Given the description of an element on the screen output the (x, y) to click on. 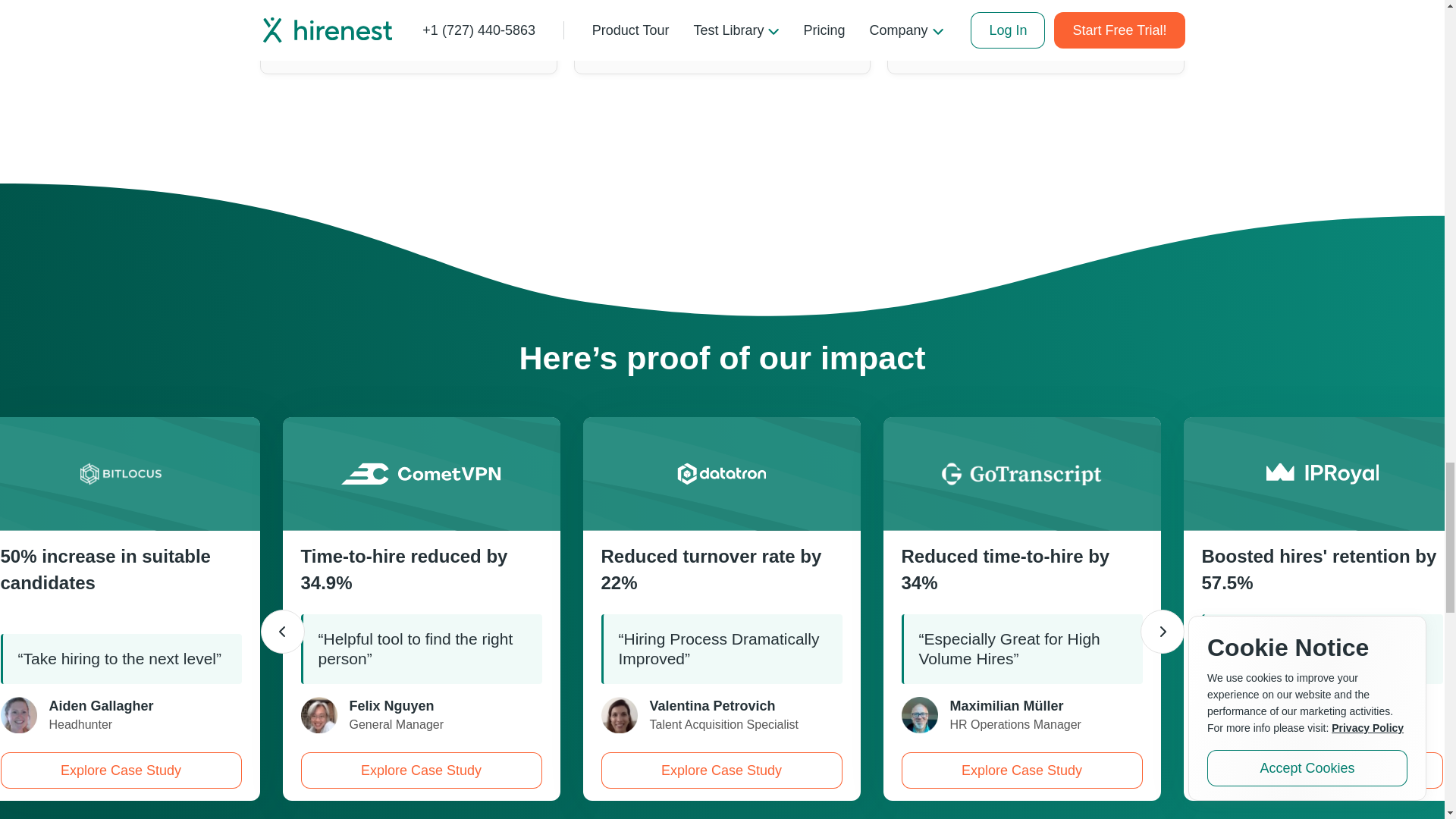
Explore Case Study (1021, 770)
Explore Case Study (1321, 770)
Explore Case Study (720, 770)
Explore Case Study (120, 770)
Explore Case Study (420, 770)
